Given the description of an element on the screen output the (x, y) to click on. 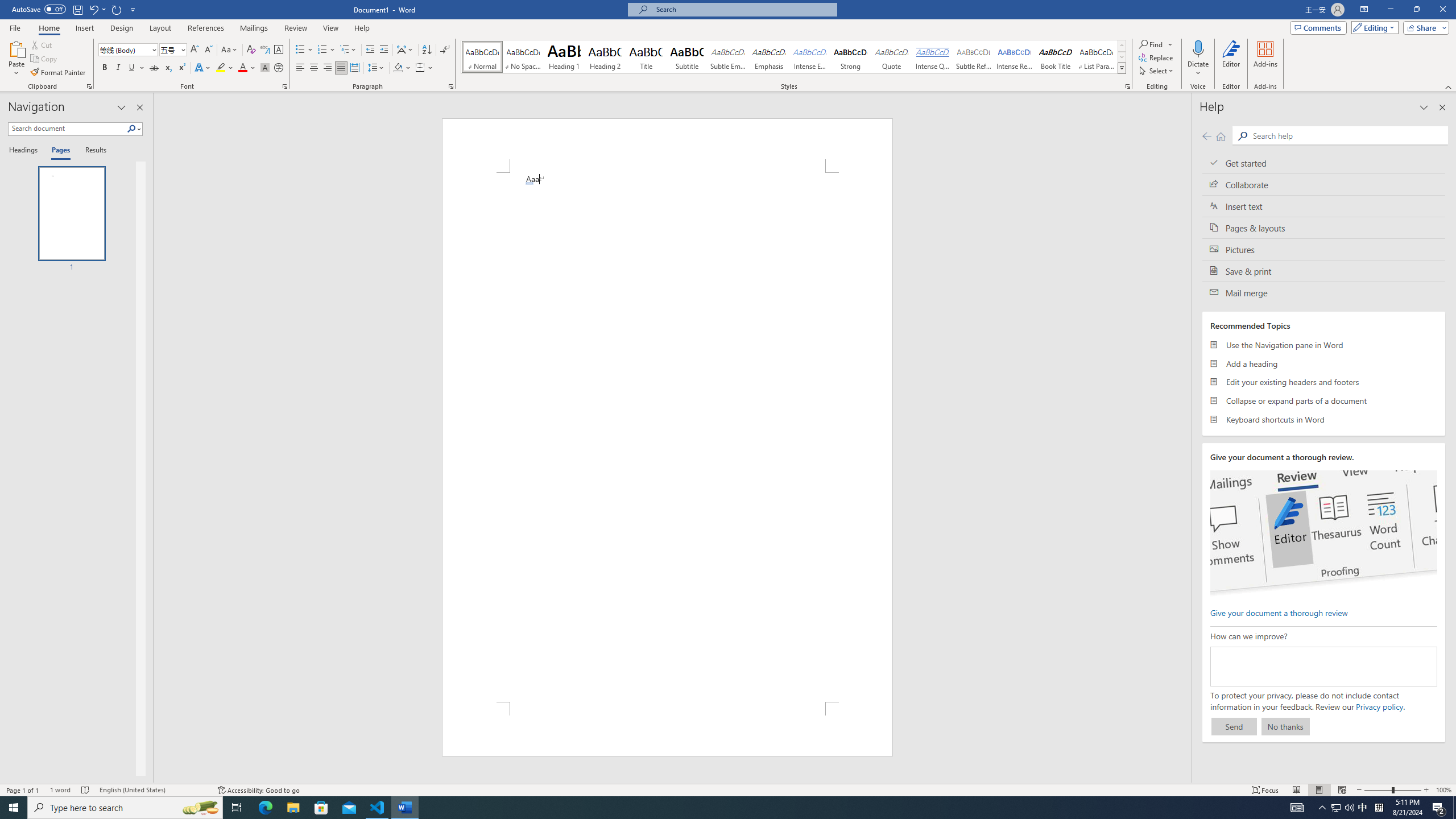
Numbering (326, 49)
Line and Paragraph Spacing (376, 67)
File Tab (15, 27)
Paste (16, 58)
Keyboard shortcuts in Word (1323, 419)
Paste (16, 48)
Task Pane Options (121, 107)
Sort... (426, 49)
Numbering (322, 49)
Design (122, 28)
Search document (66, 128)
Text Effects and Typography (202, 67)
Shading (402, 67)
